Given the description of an element on the screen output the (x, y) to click on. 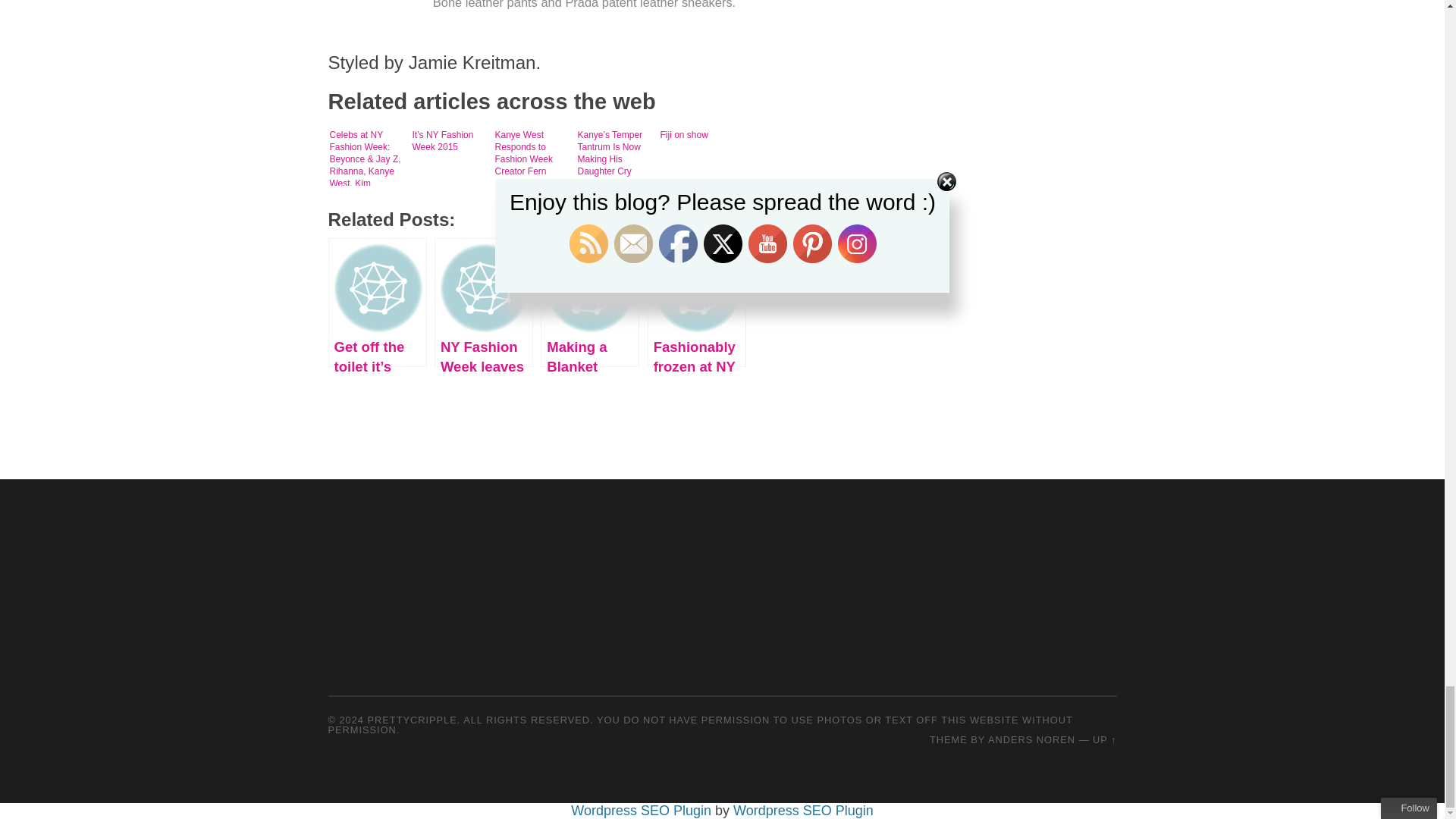
Fashionably frozen at NY Fall Fashion Week (696, 302)
Fiji on show (697, 155)
Making a Blanket Statement at Couture Fashion Week 2015 (589, 302)
NY Fashion Week leaves me scribbling (482, 302)
